Given the description of an element on the screen output the (x, y) to click on. 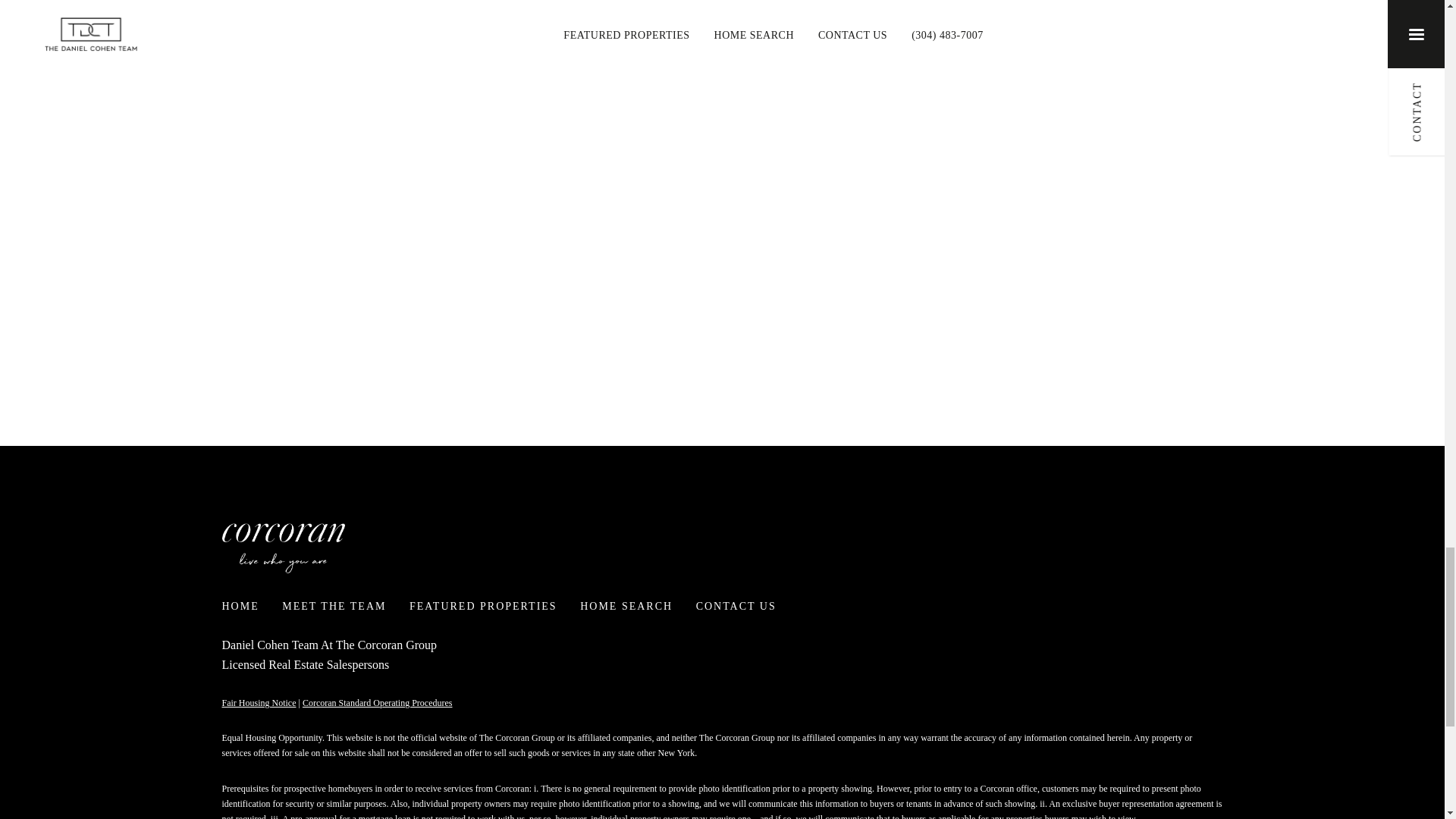
Search Homes (722, 10)
